Given the description of an element on the screen output the (x, y) to click on. 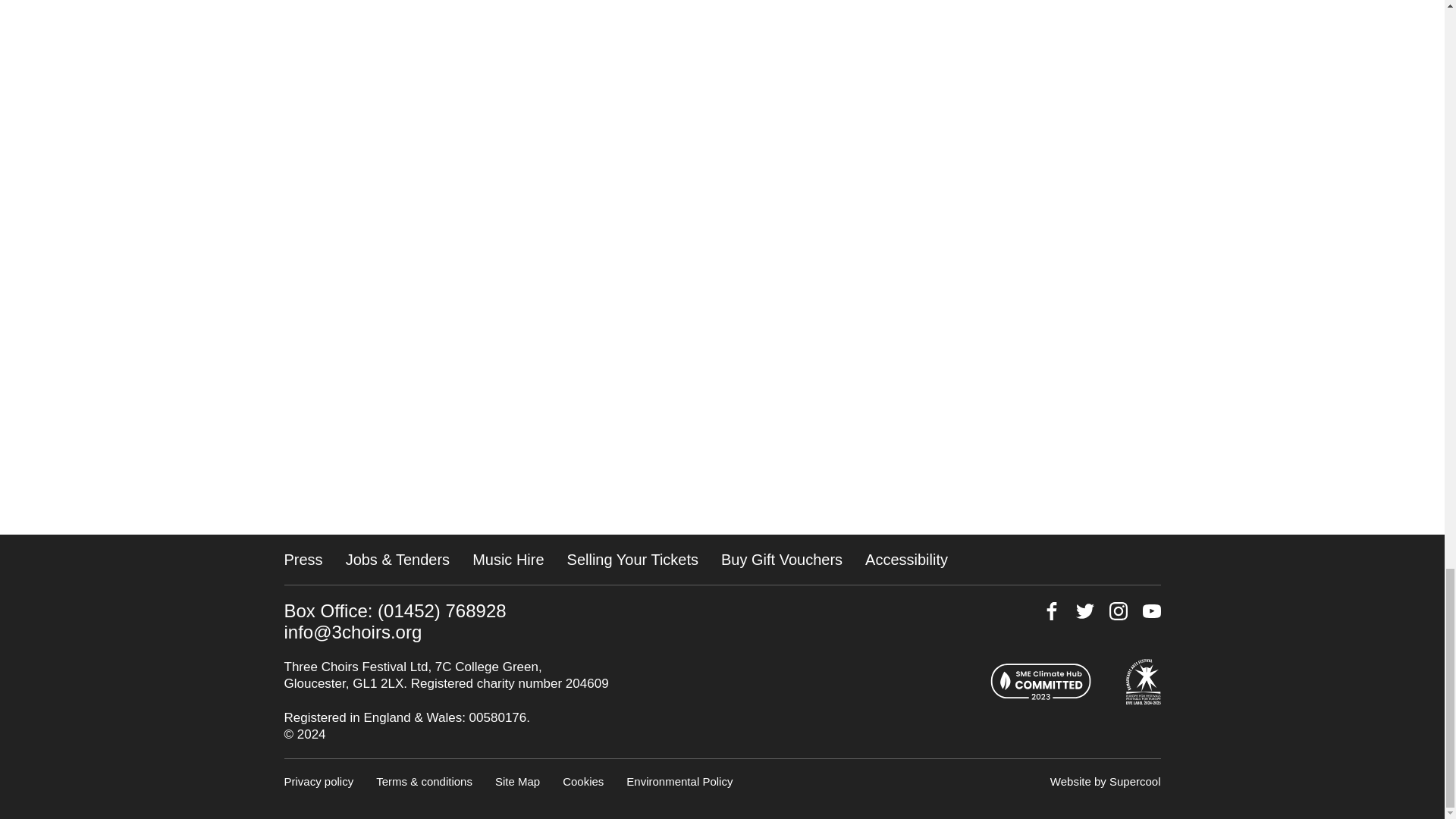
Youtube (1150, 609)
Supercool (1134, 780)
Environmental Policy (679, 780)
Accessibility (905, 559)
Cookies (583, 780)
Selling Your Tickets (632, 559)
Twitter (1084, 609)
Buy Gift Vouchers (781, 559)
Music Hire (507, 559)
Privacy policy (318, 780)
